Given the description of an element on the screen output the (x, y) to click on. 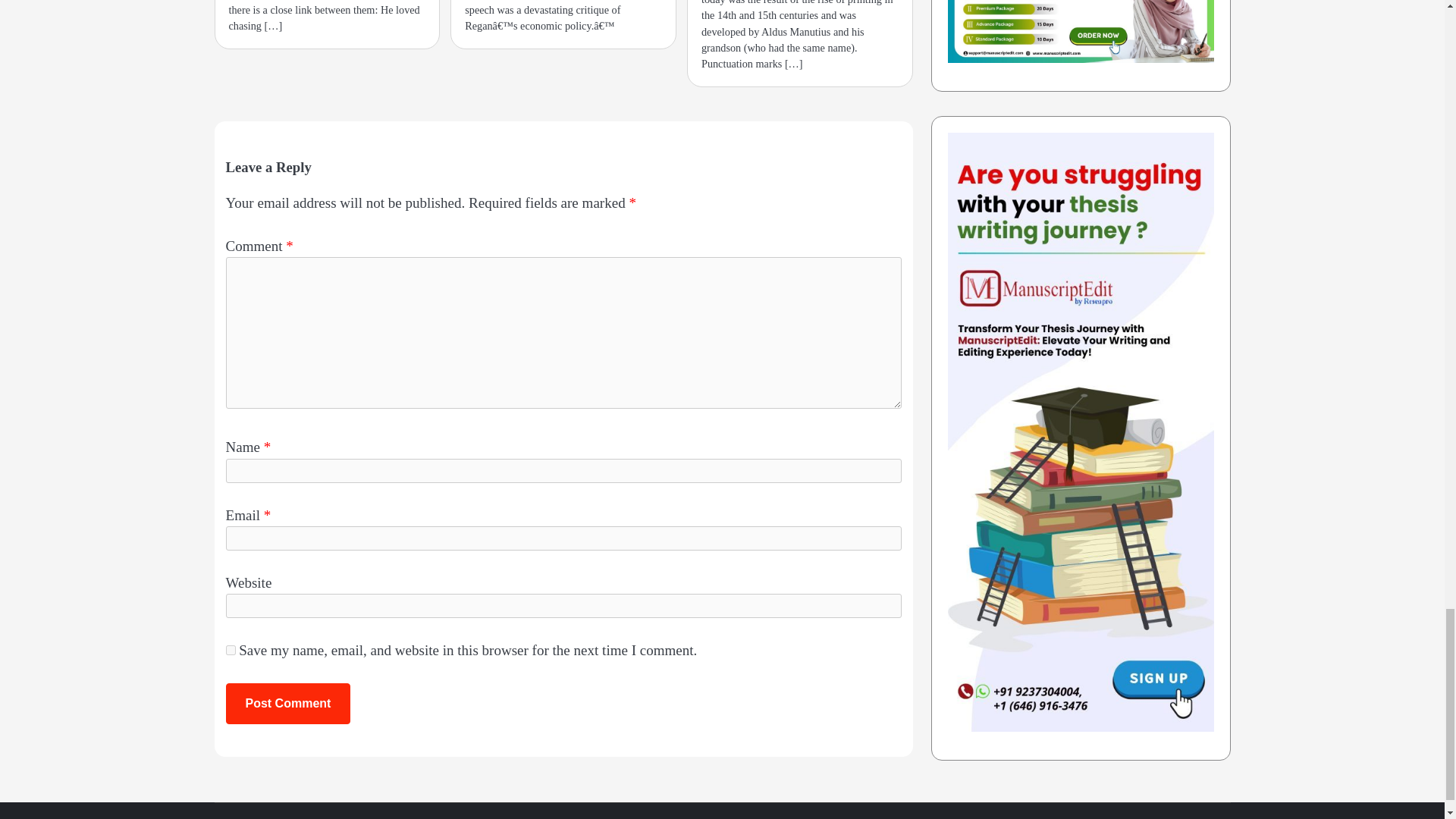
Post Comment (287, 703)
Post Comment (287, 703)
yes (230, 650)
